Given the description of an element on the screen output the (x, y) to click on. 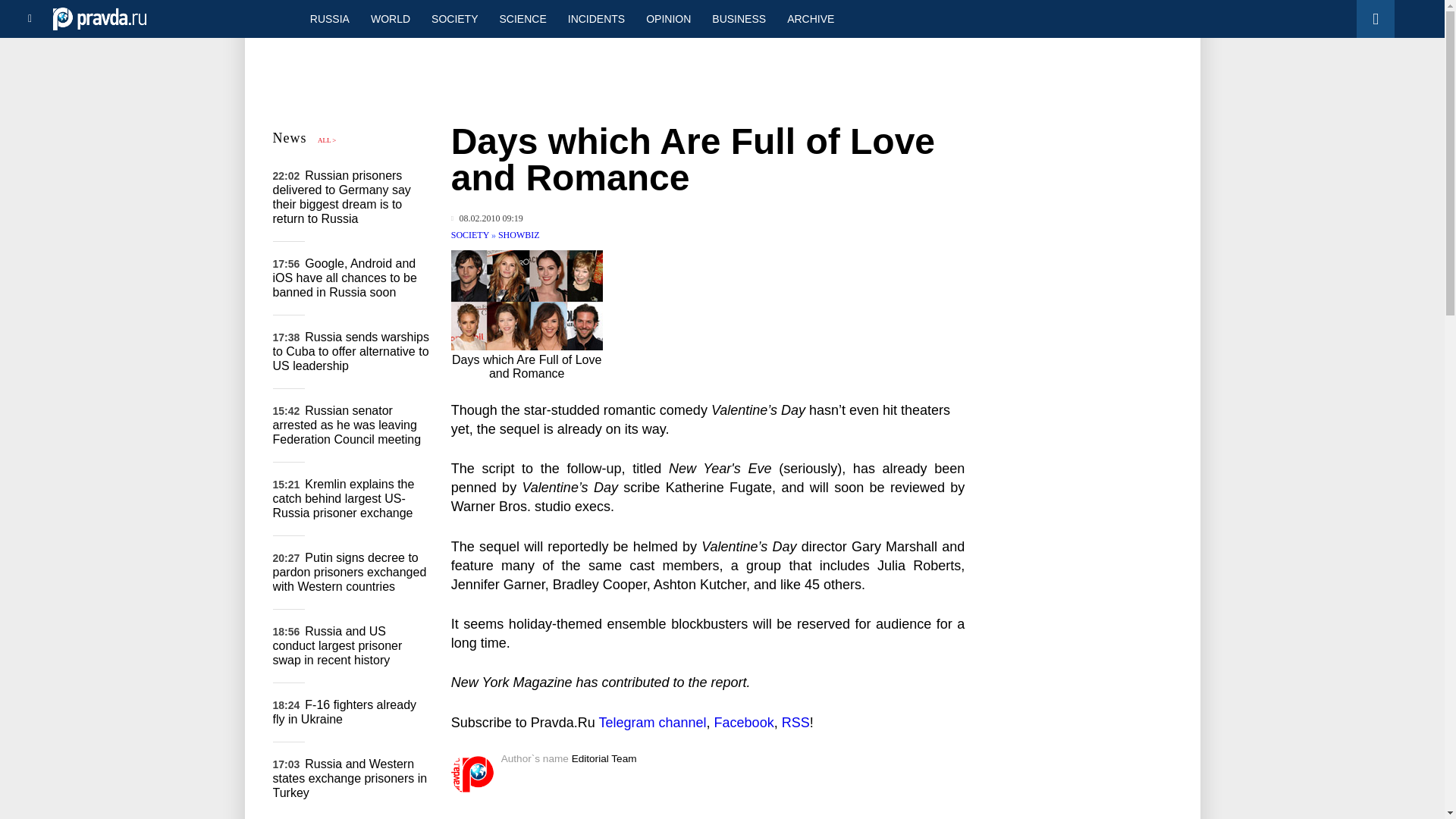
INCIDENTS (595, 18)
Editorial Team (604, 758)
Days which Are Full of Love and Romance (526, 300)
Published (486, 218)
WORLD (389, 18)
RSS (795, 722)
F-16 fighters already fly in Ukraine (344, 711)
SHOWBIZ (518, 235)
BUSINESS (738, 18)
Telegram channel (652, 722)
